Given the description of an element on the screen output the (x, y) to click on. 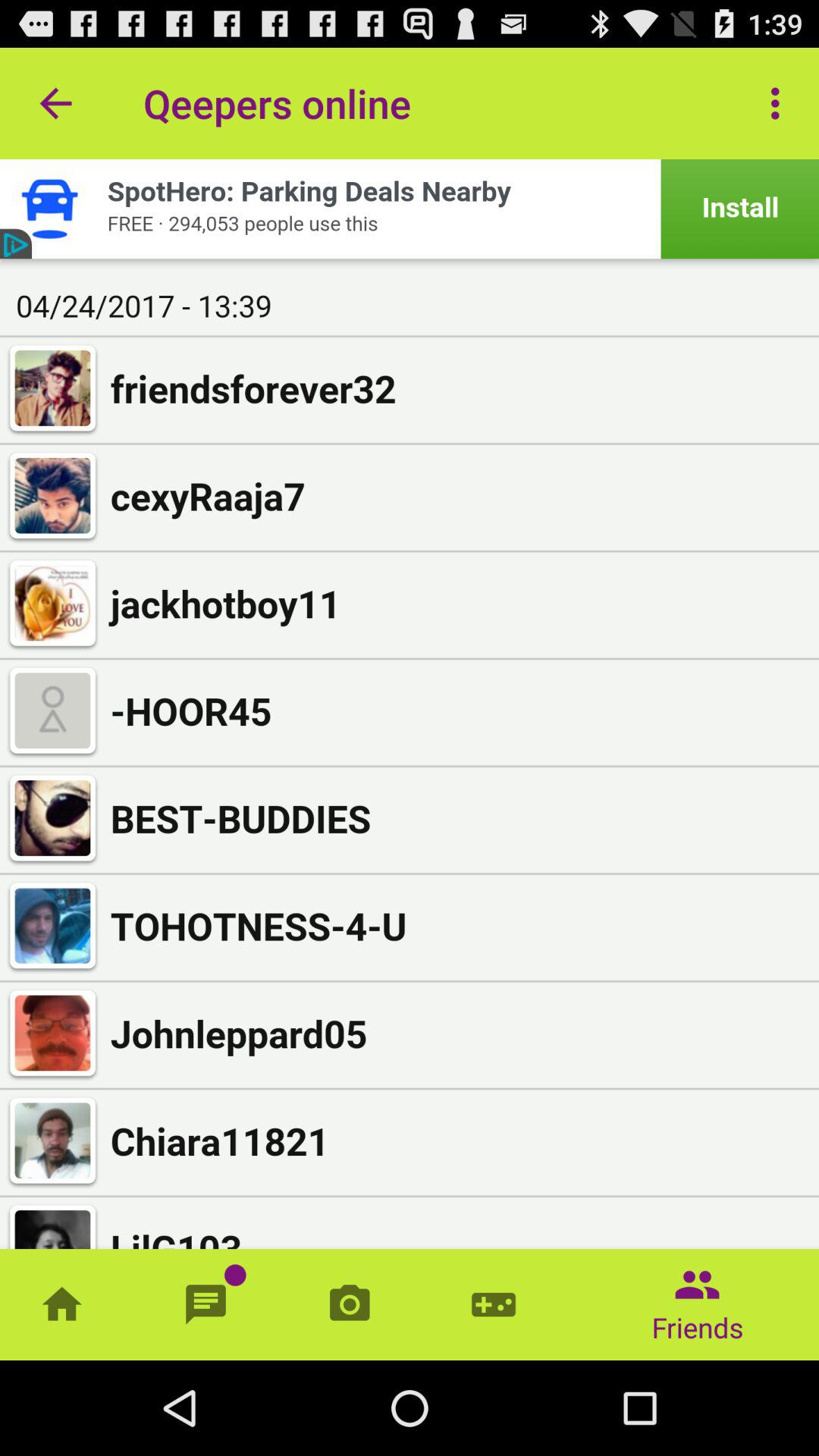
advertisement (409, 208)
